Given the description of an element on the screen output the (x, y) to click on. 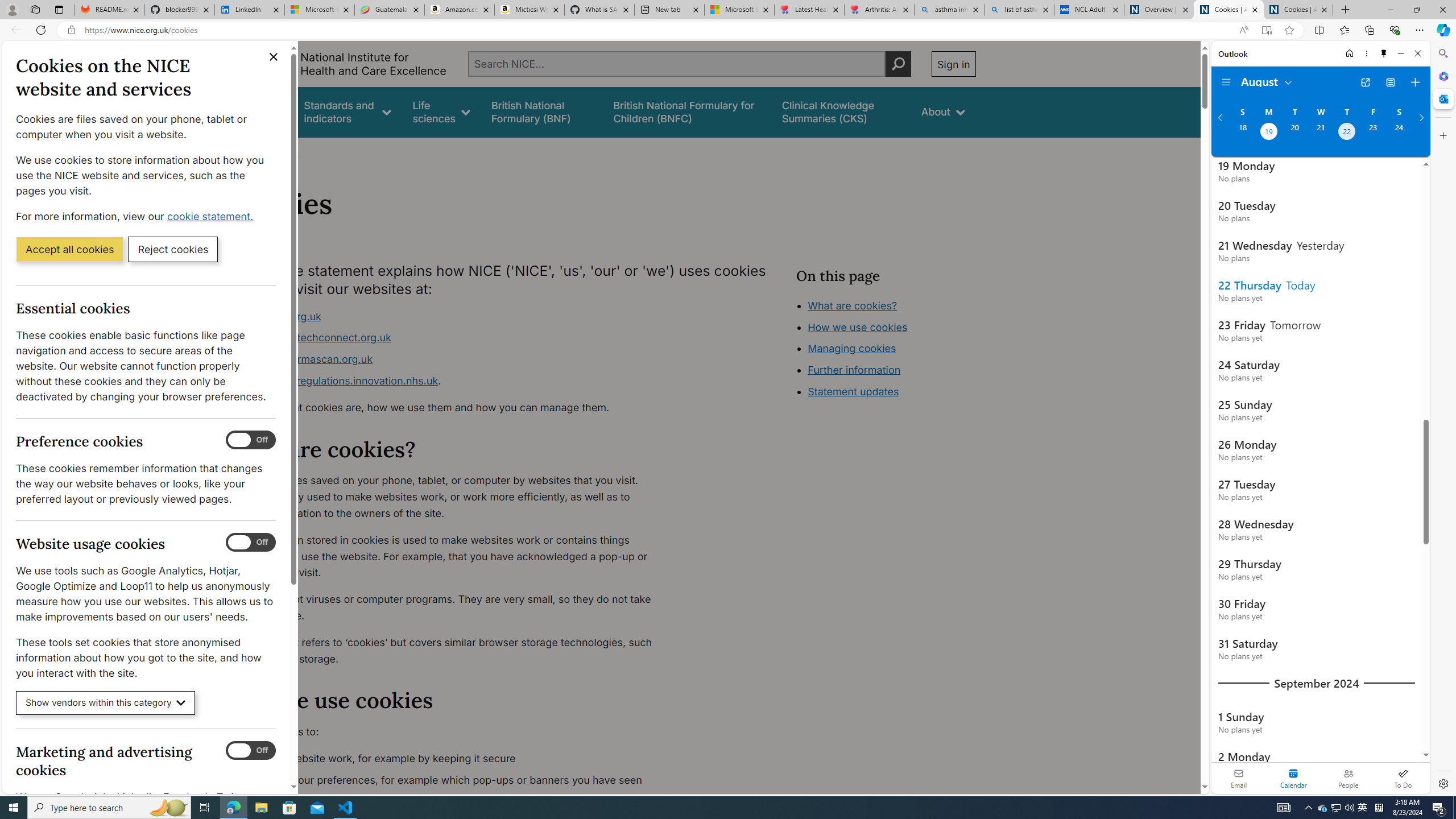
Create event (1414, 82)
Open in new tab (1365, 82)
www.ukpharmascan.org.uk (305, 359)
British National Formulary for Children (BNFC) (686, 111)
Saturday, August 24, 2024.  (1399, 132)
To Do (1402, 777)
